Given the description of an element on the screen output the (x, y) to click on. 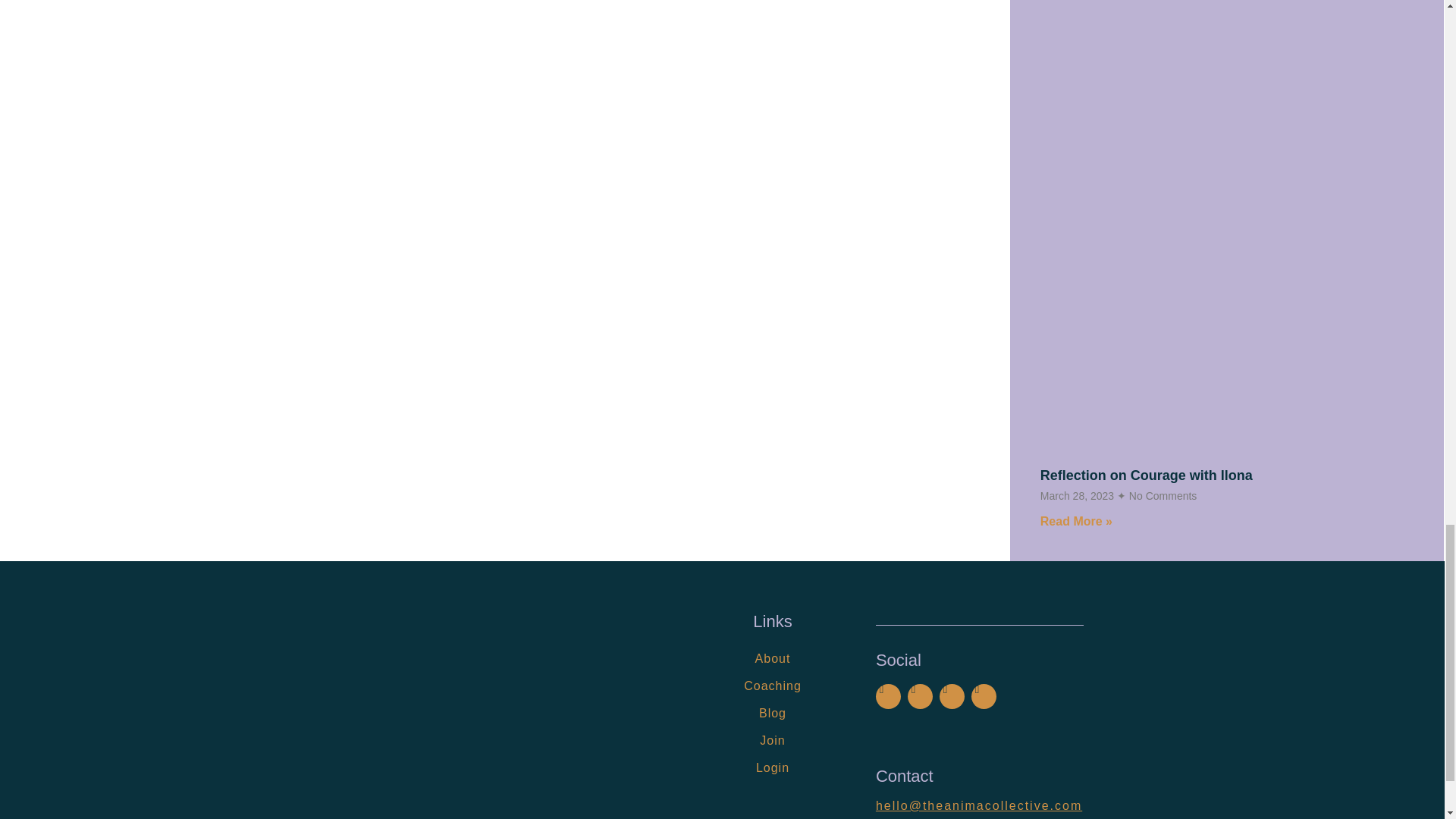
About (772, 658)
Coaching (772, 686)
Blog (772, 713)
Reflection on Courage with Ilona (1146, 475)
Join (772, 740)
